Given the description of an element on the screen output the (x, y) to click on. 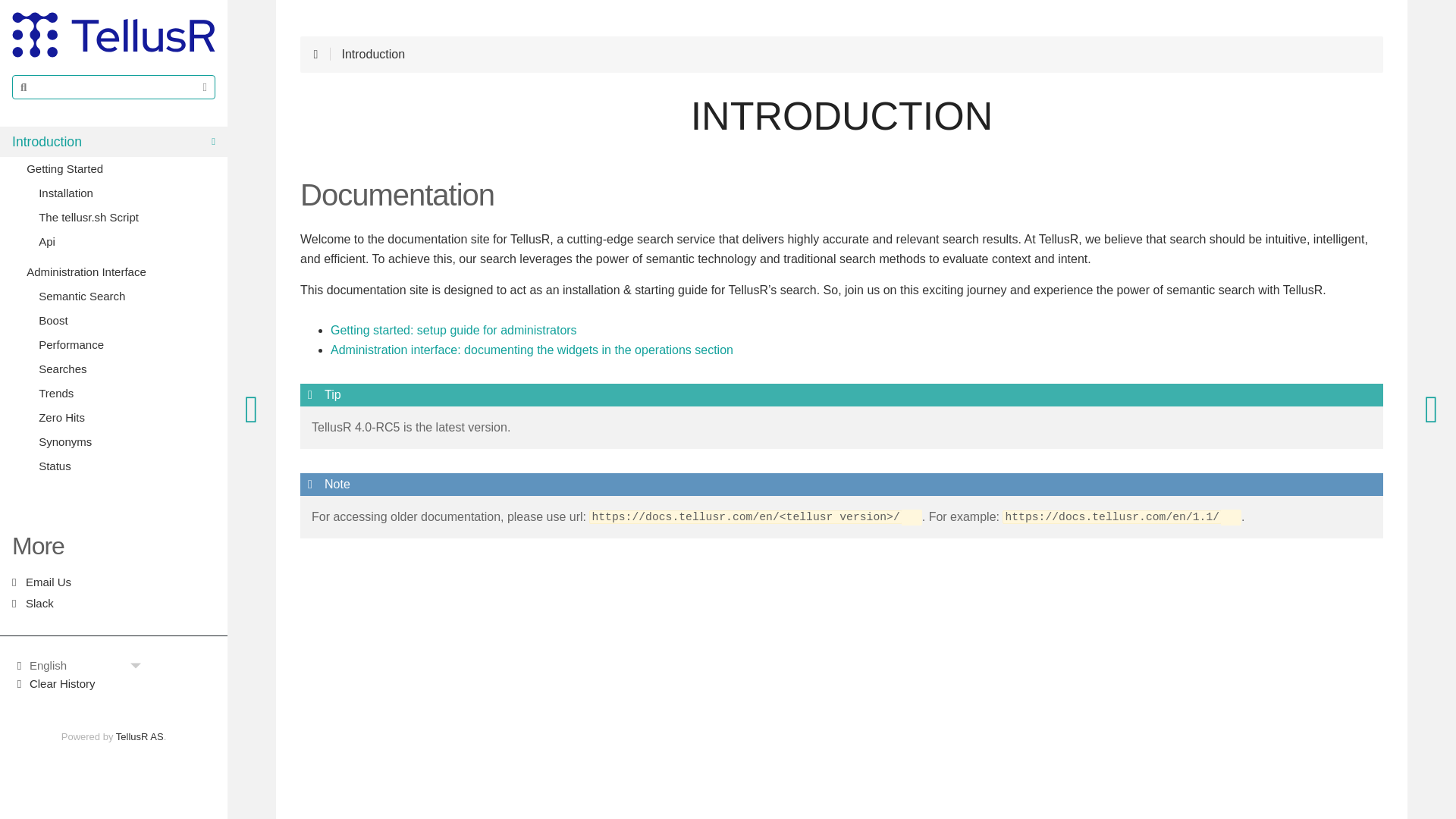
Zero Hits (125, 417)
  Email Us (113, 582)
  Slack (113, 603)
Status (119, 466)
Getting Started (119, 168)
Api (119, 241)
Searches (119, 369)
Getting started: setup guide for administrators (453, 330)
Synonyms (125, 441)
Status (125, 466)
Installation (119, 192)
Performance (125, 344)
The tellusr.sh Script (119, 217)
Boost (119, 320)
Getting Started (113, 208)
